Given the description of an element on the screen output the (x, y) to click on. 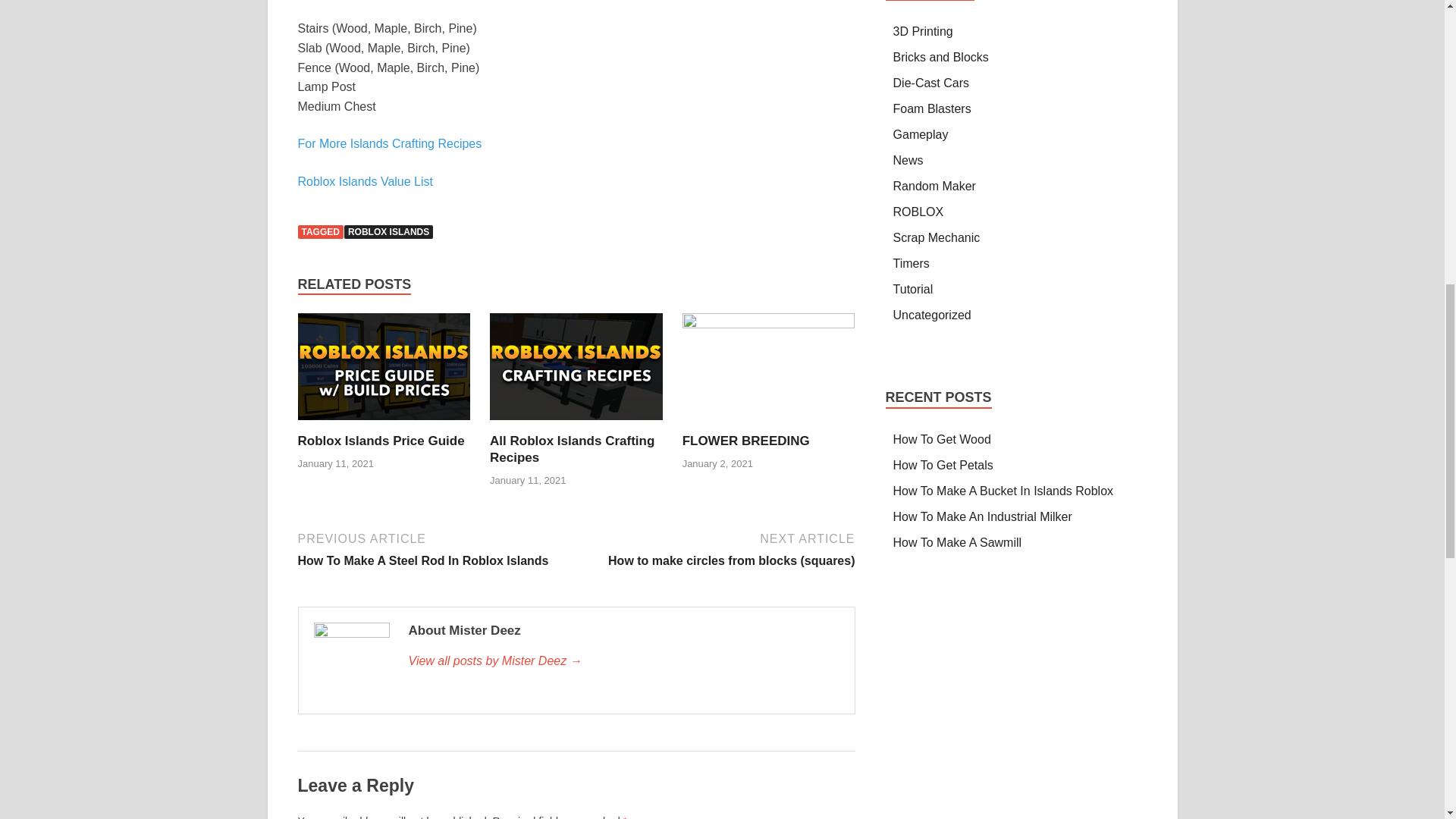
Roblox Islands Price Guide (380, 440)
Mister Deez (622, 660)
Roblox Islands Price Guide (380, 440)
FLOWER BREEDING (745, 440)
For More Islands Crafting Recipes (389, 143)
All Roblox Islands Crafting Recipes (571, 449)
All Roblox Islands Crafting Recipes (571, 449)
All Roblox Islands Crafting Recipes (575, 371)
FLOWER BREEDING (745, 440)
ROBLOX ISLANDS (387, 232)
